Given the description of an element on the screen output the (x, y) to click on. 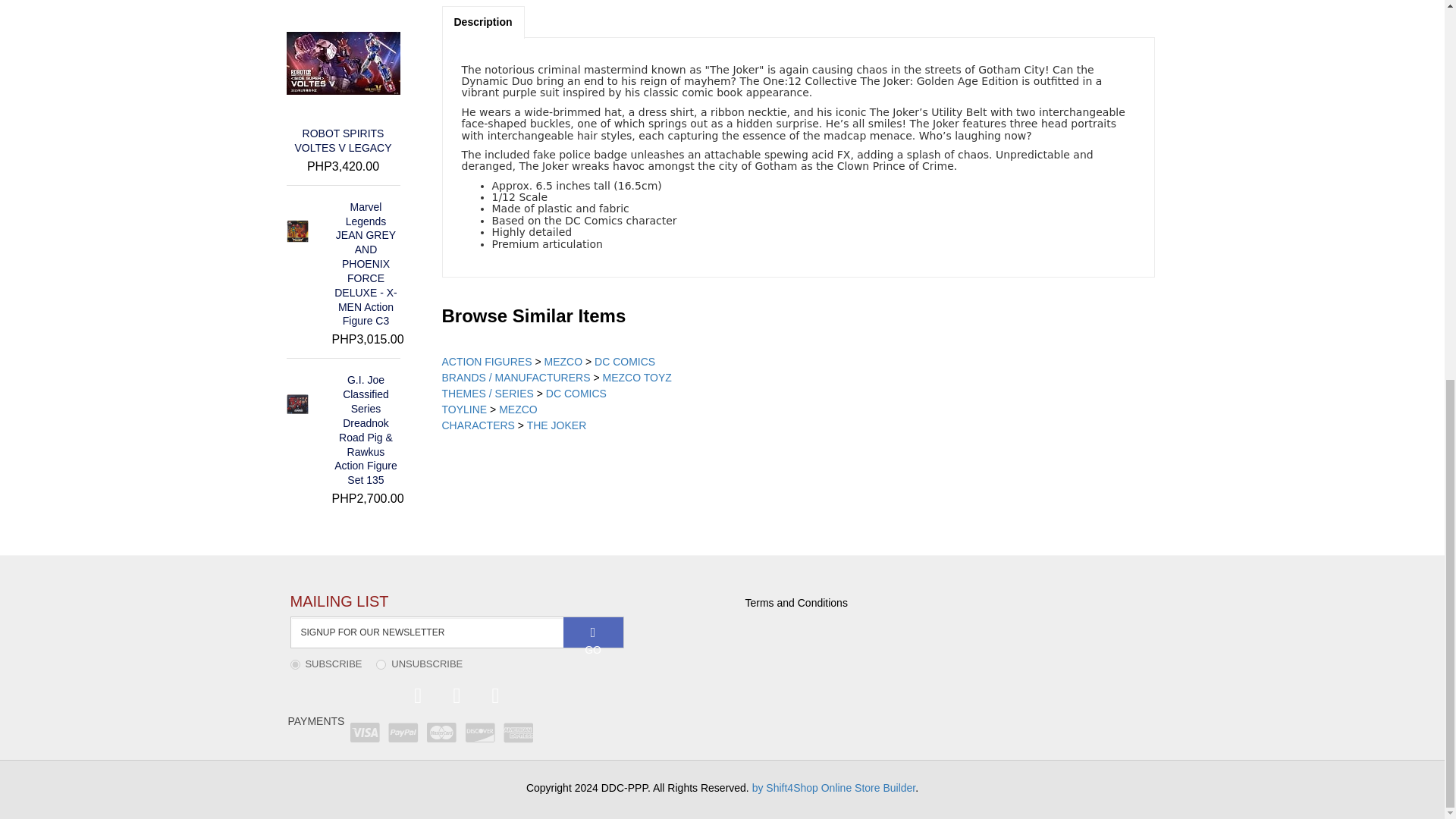
ROBOT SPIRITS VOLTES V LEGACY (342, 140)
0 (380, 664)
1 (294, 664)
